Given the description of an element on the screen output the (x, y) to click on. 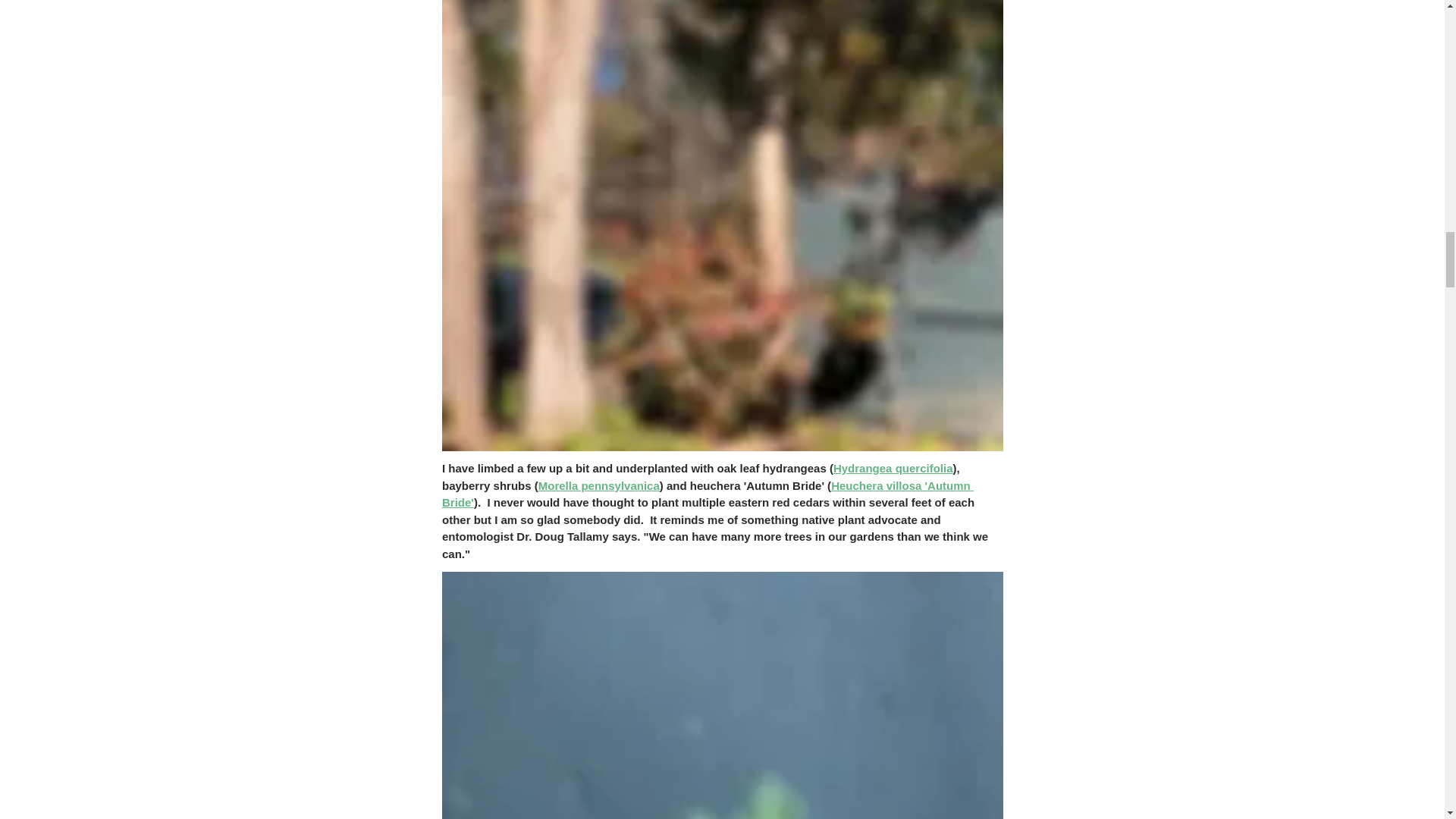
Morella pennsylvanica (598, 485)
Hydrangea quercifolia (892, 468)
Heuchera villosa 'Autumn Bride' (706, 494)
